Given the description of an element on the screen output the (x, y) to click on. 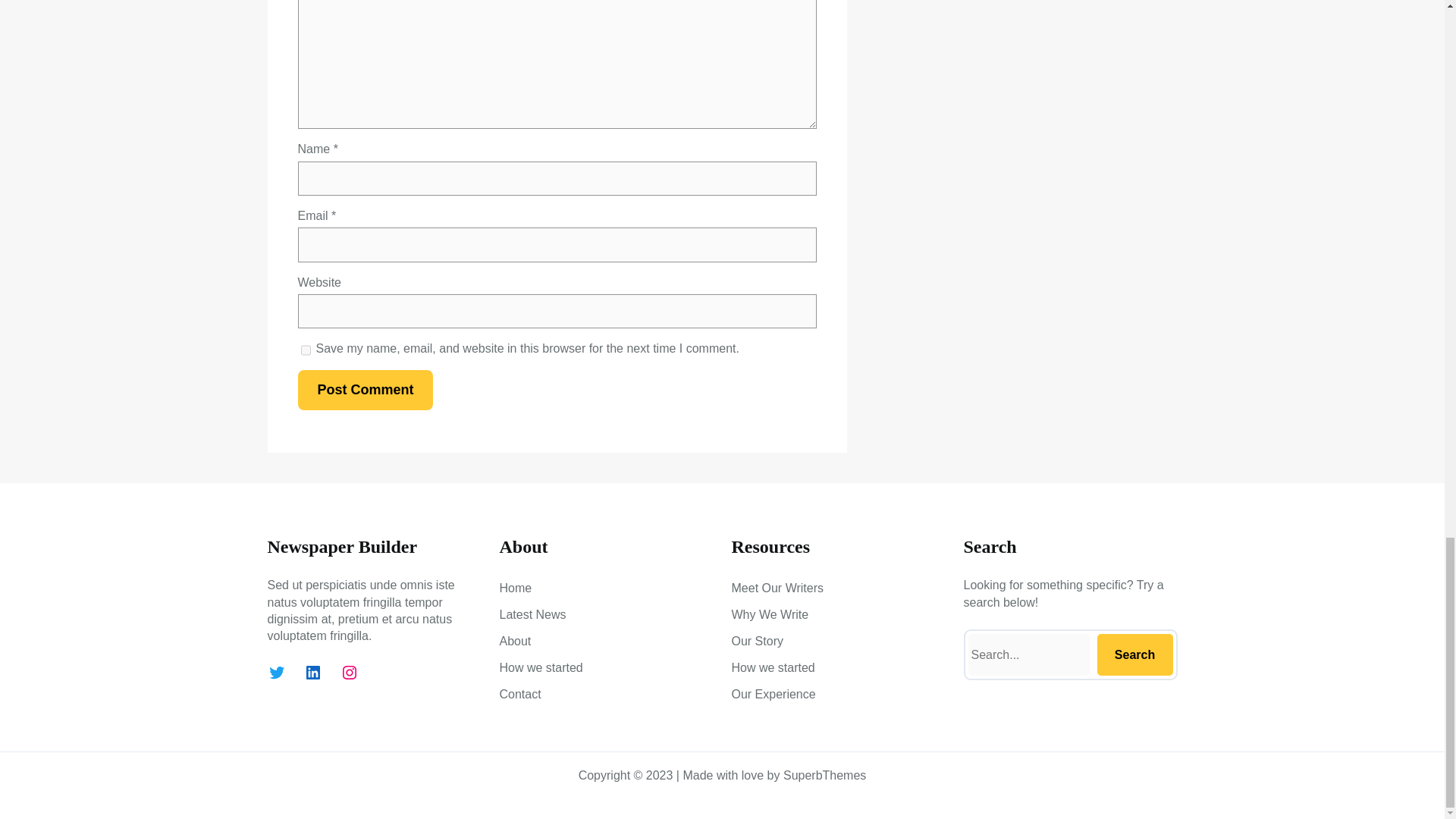
Meet Our Writers (777, 588)
About (515, 640)
How we started (540, 667)
Instagram (348, 672)
Twitter (275, 672)
Home (515, 588)
Contact (519, 694)
LinkedIn (311, 672)
Post Comment (364, 390)
yes (304, 349)
